Given the description of an element on the screen output the (x, y) to click on. 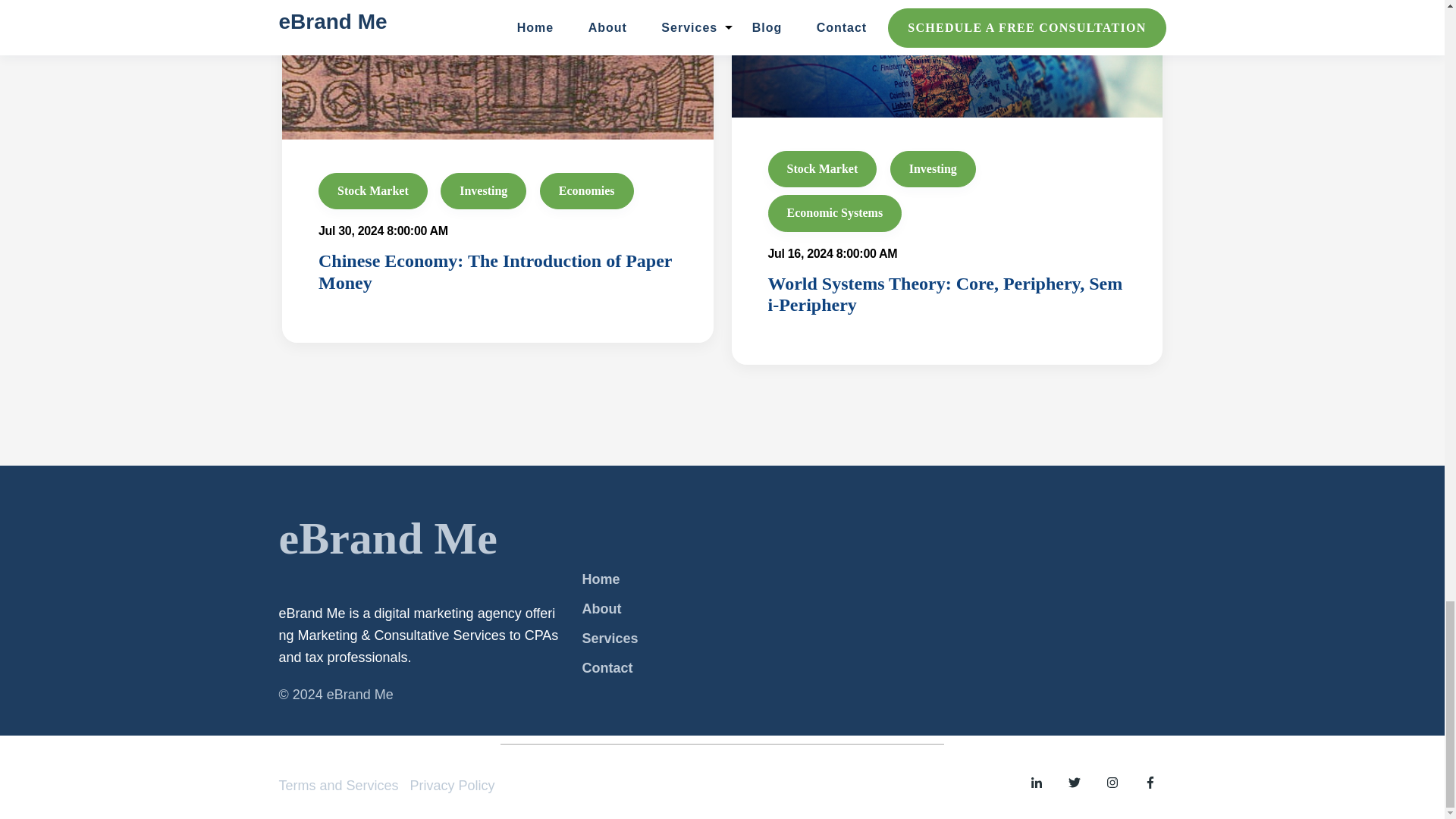
Investing (483, 190)
Economic Systems (834, 212)
Economies (586, 190)
Chinese Economy: The Introduction of Paper Money (494, 271)
Home (600, 579)
About (600, 609)
Investing (932, 168)
Contact (605, 668)
Services (608, 638)
Stock Market (821, 168)
World Systems Theory: Core, Periphery, Semi-Periphery (944, 294)
Stock Market (373, 190)
